Given the description of an element on the screen output the (x, y) to click on. 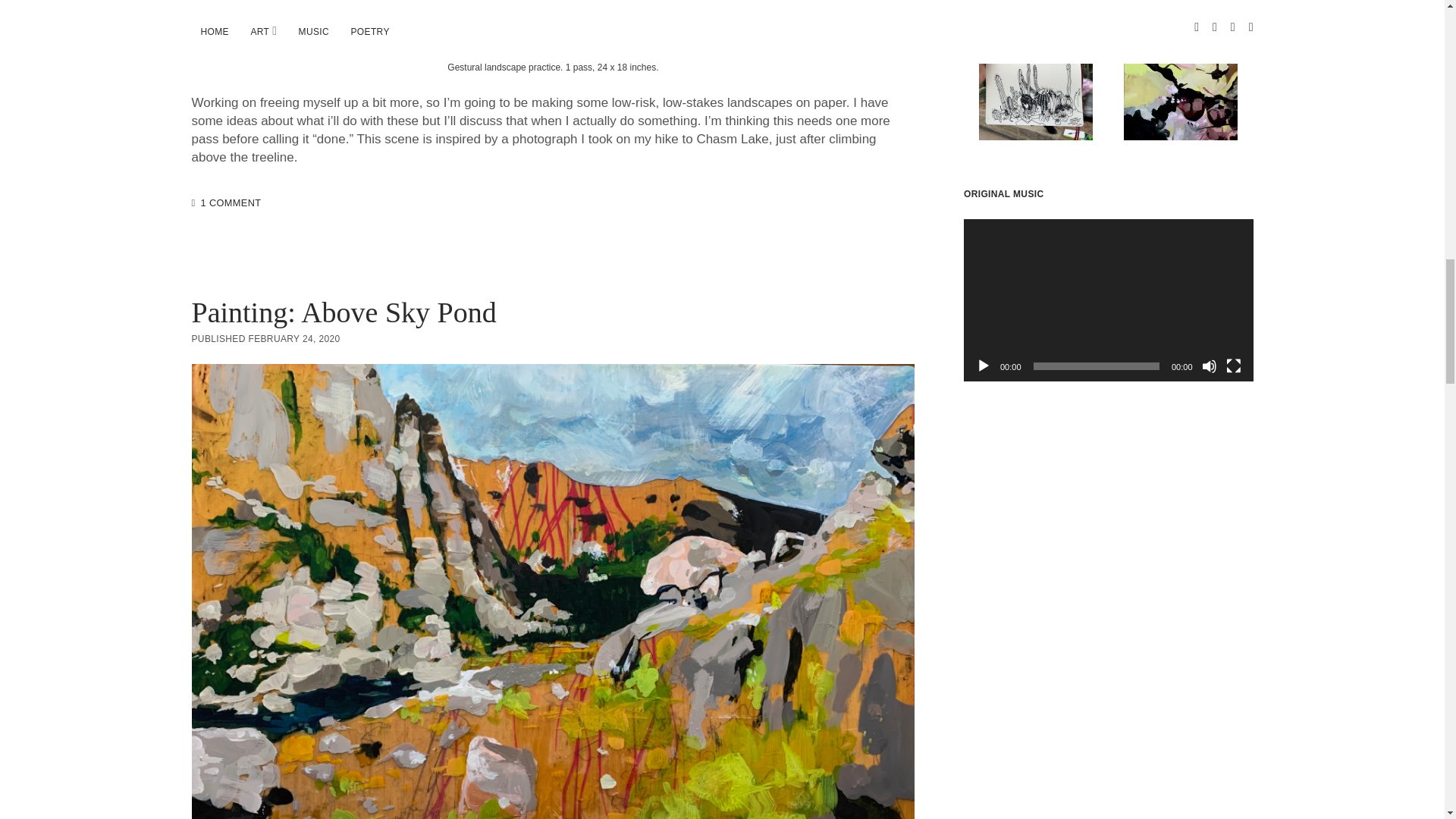
Fullscreen (1232, 365)
Painting: Above Sky Pond (343, 312)
Play (983, 365)
comment icon (192, 203)
1 COMMENT (230, 202)
Mute (1208, 365)
